Given the description of an element on the screen output the (x, y) to click on. 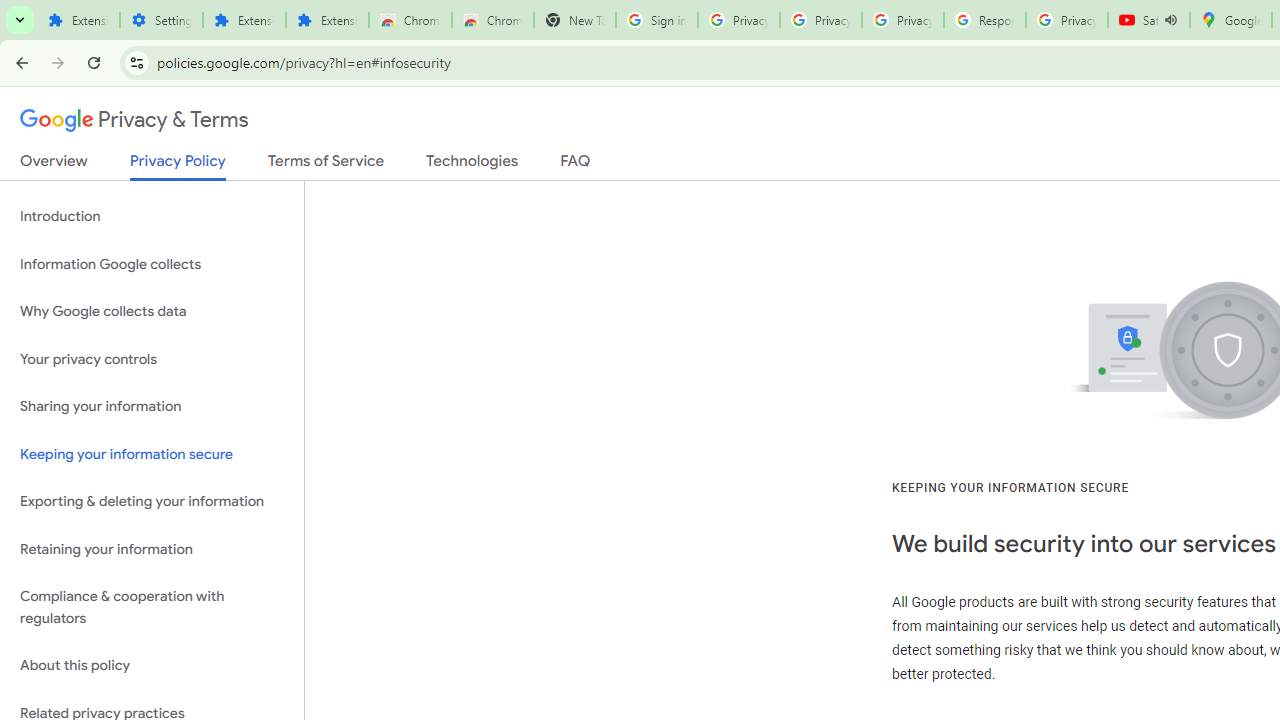
Forward (57, 62)
New Tab (574, 20)
Settings (161, 20)
Terms of Service (326, 165)
Keeping your information secure (152, 453)
Search tabs (20, 20)
Privacy Policy (177, 166)
FAQ (575, 165)
View site information (136, 62)
Compliance & cooperation with regulators (152, 607)
Extensions (244, 20)
